Given the description of an element on the screen output the (x, y) to click on. 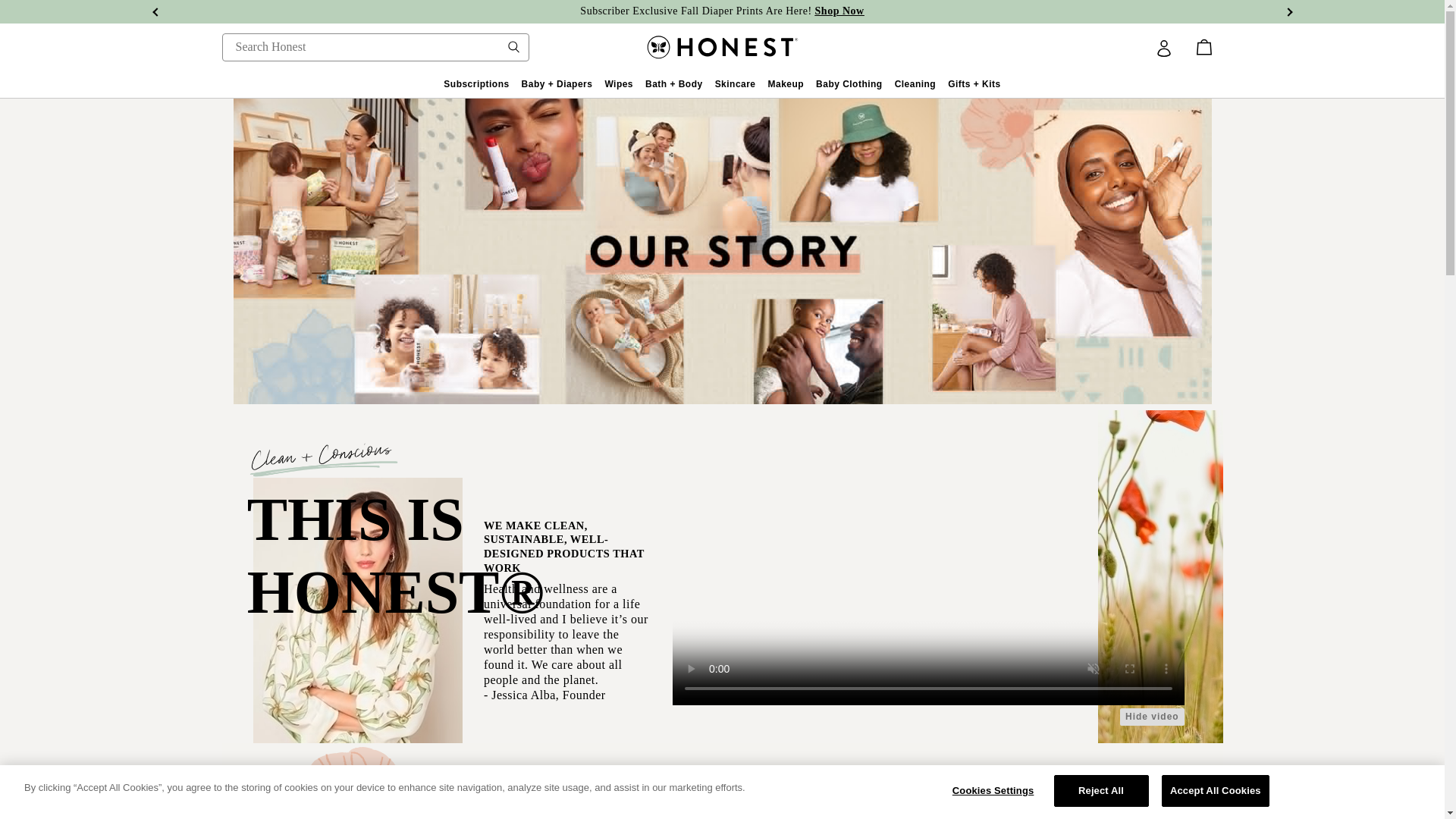
jessica alba qoute image (1009, 807)
Subscriptions (476, 84)
The Honest Company Logo (721, 47)
Shop Now (839, 10)
